Given the description of an element on the screen output the (x, y) to click on. 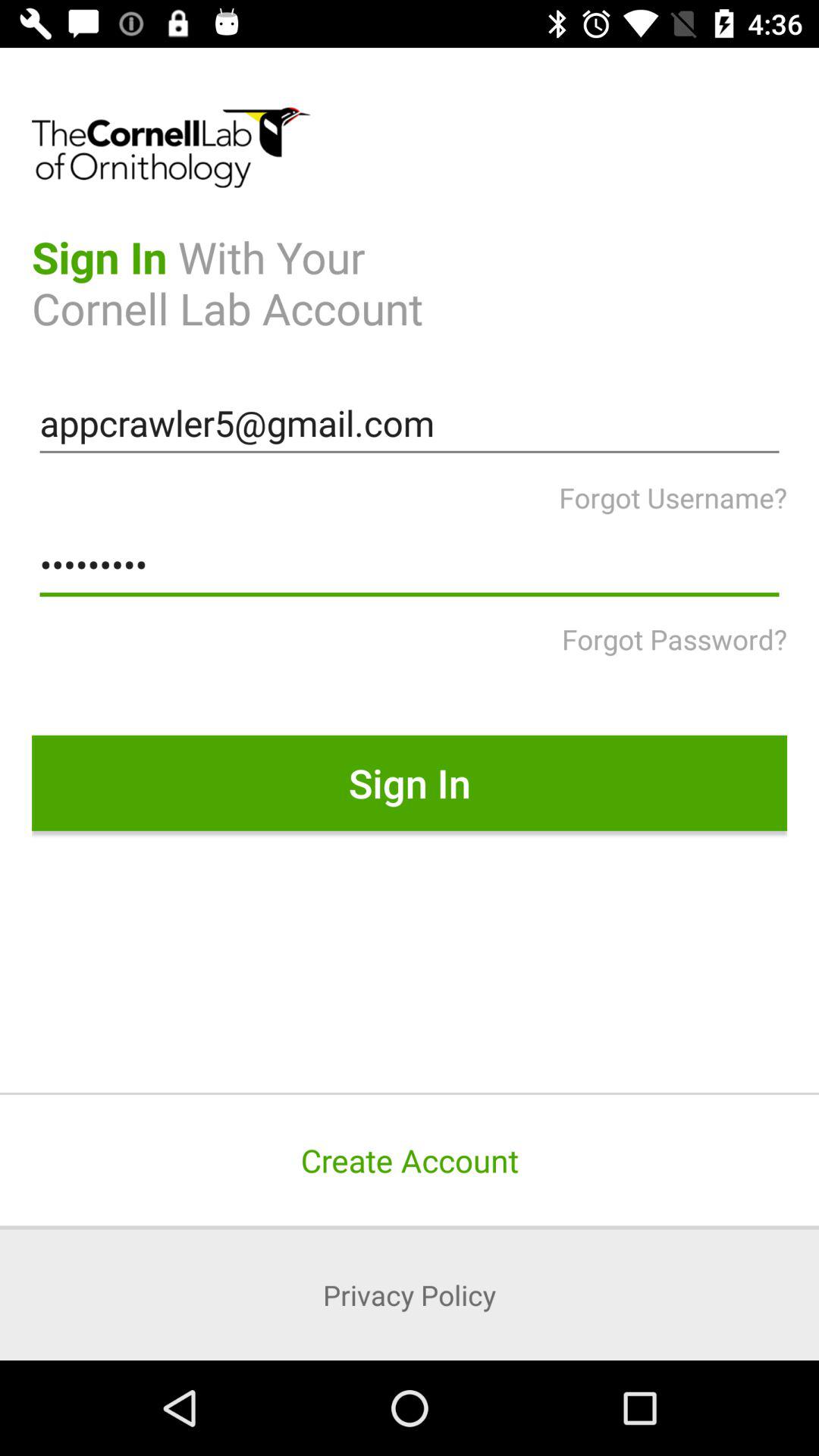
turn off create account icon (409, 1159)
